Given the description of an element on the screen output the (x, y) to click on. 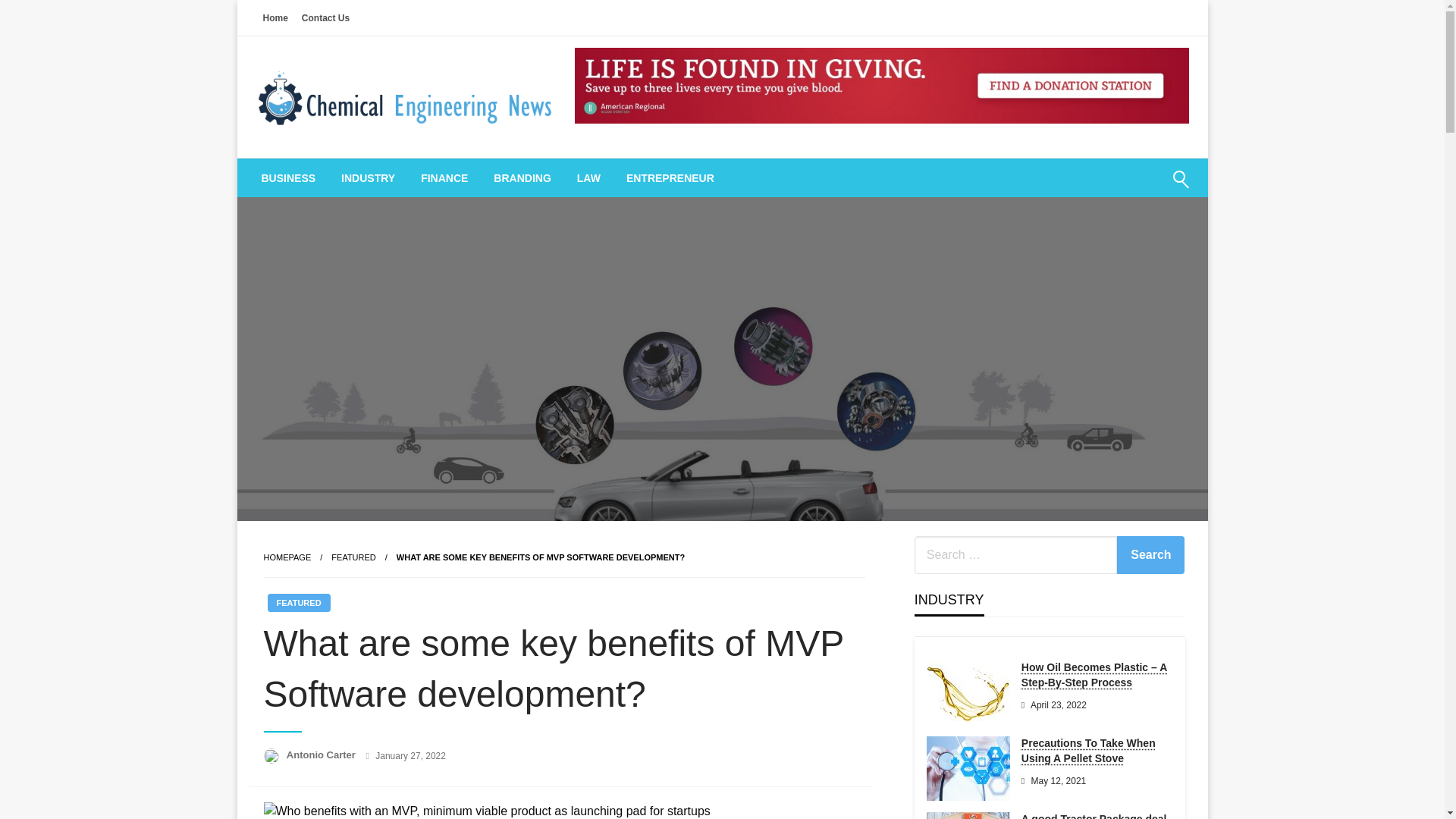
INDUSTRY (368, 177)
Antonio Carter (322, 754)
What are some key benefits of MVP Software development? (540, 556)
LAW (588, 177)
BRANDING (521, 177)
ENTREPRENEUR (669, 177)
Search (1150, 555)
FEATURED (353, 556)
Search (1144, 188)
FINANCE (443, 177)
Homepage (287, 556)
Antonio Carter (322, 754)
Contact Us (325, 17)
BUSINESS (288, 177)
Home (275, 17)
